Given the description of an element on the screen output the (x, y) to click on. 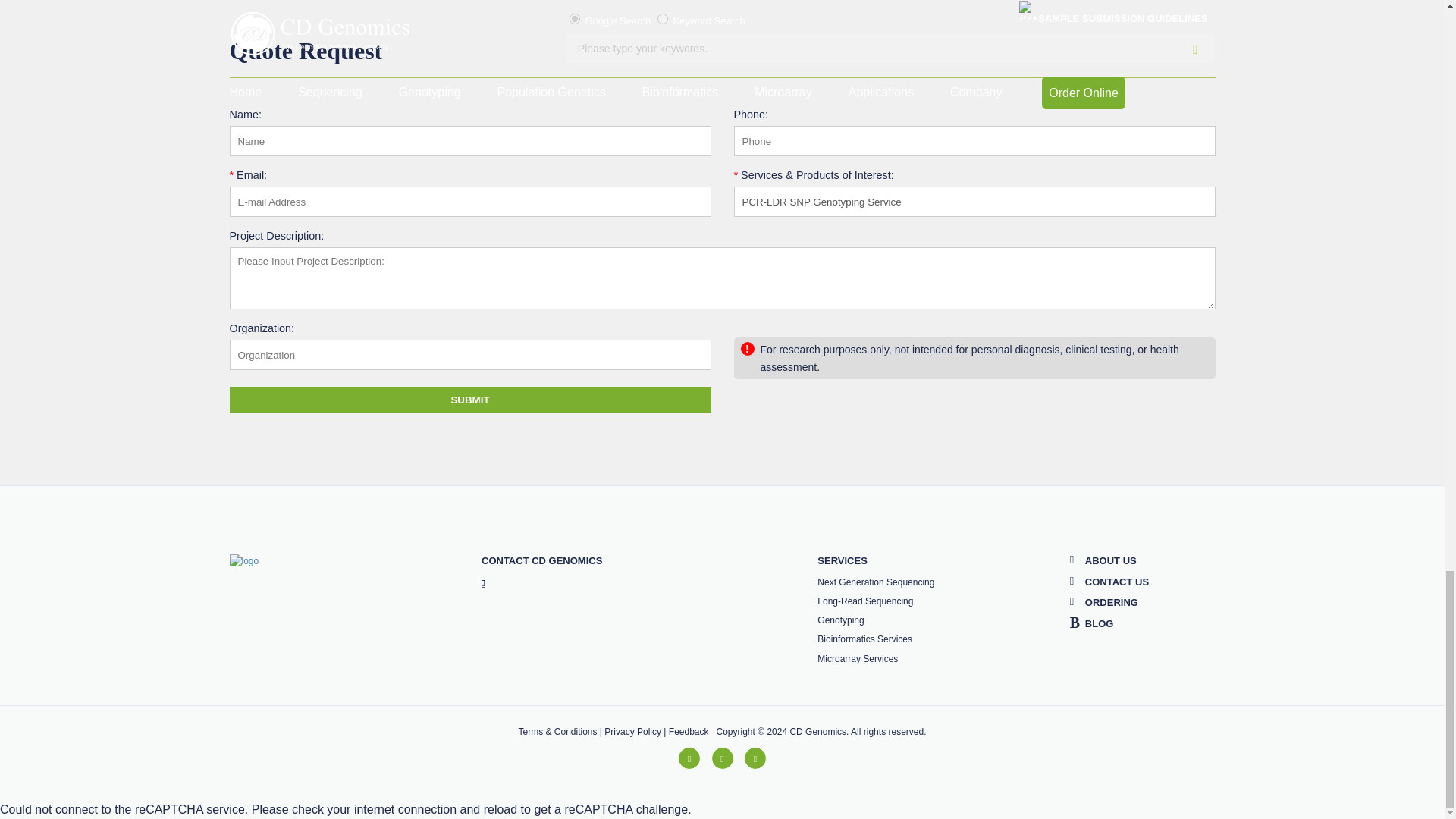
PCR-LDR SNP Genotyping Service (974, 201)
